Given the description of an element on the screen output the (x, y) to click on. 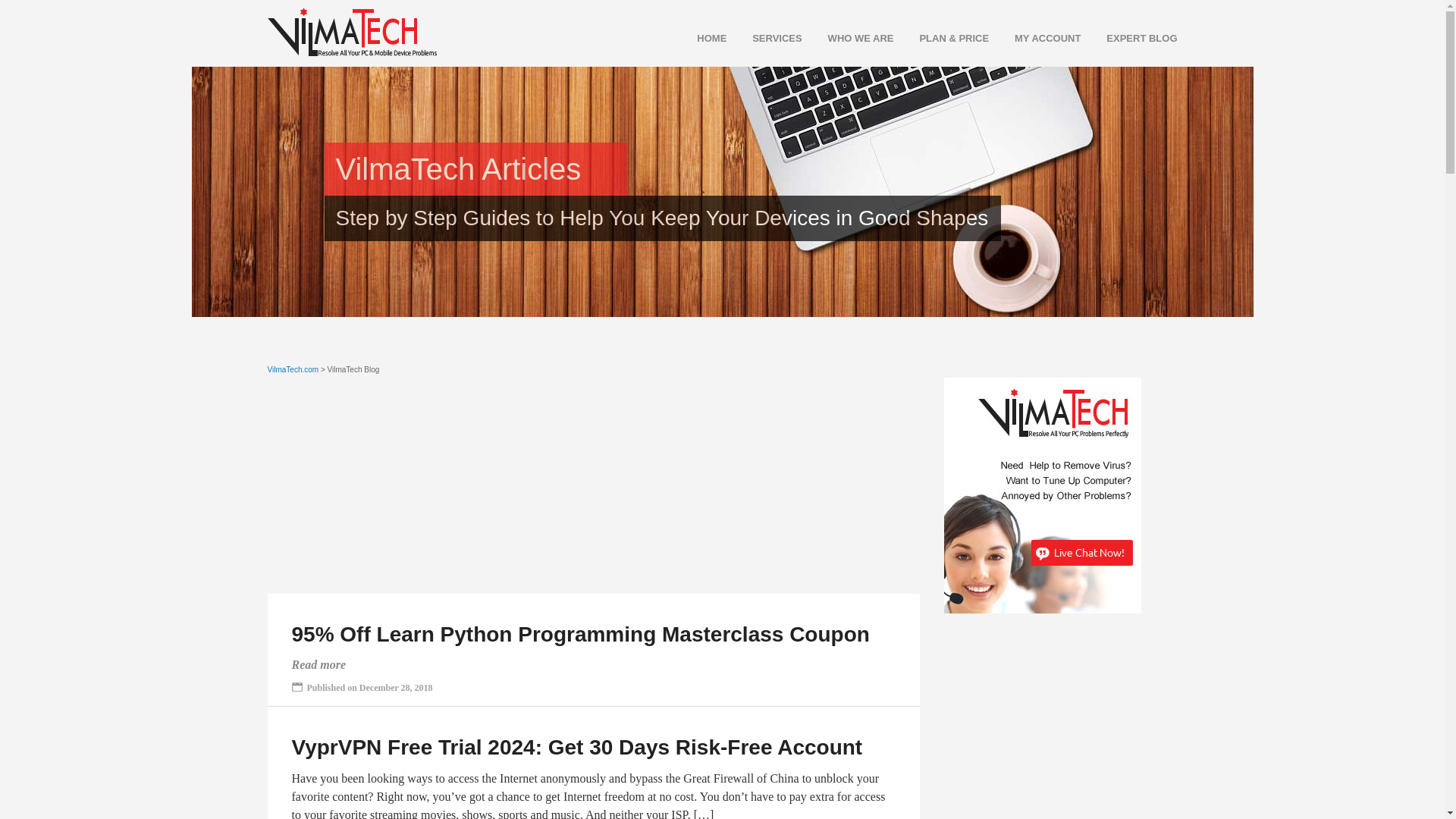
EXPERT BLOG (1129, 38)
Read more (318, 664)
MY ACCOUNT (1035, 38)
HOME (700, 38)
VilmaTech.com (292, 369)
SERVICES (765, 38)
VyprVPN Free Trial 2024: Get 30 Days Risk-Free Account (576, 747)
WHO WE ARE (849, 38)
